Given the description of an element on the screen output the (x, y) to click on. 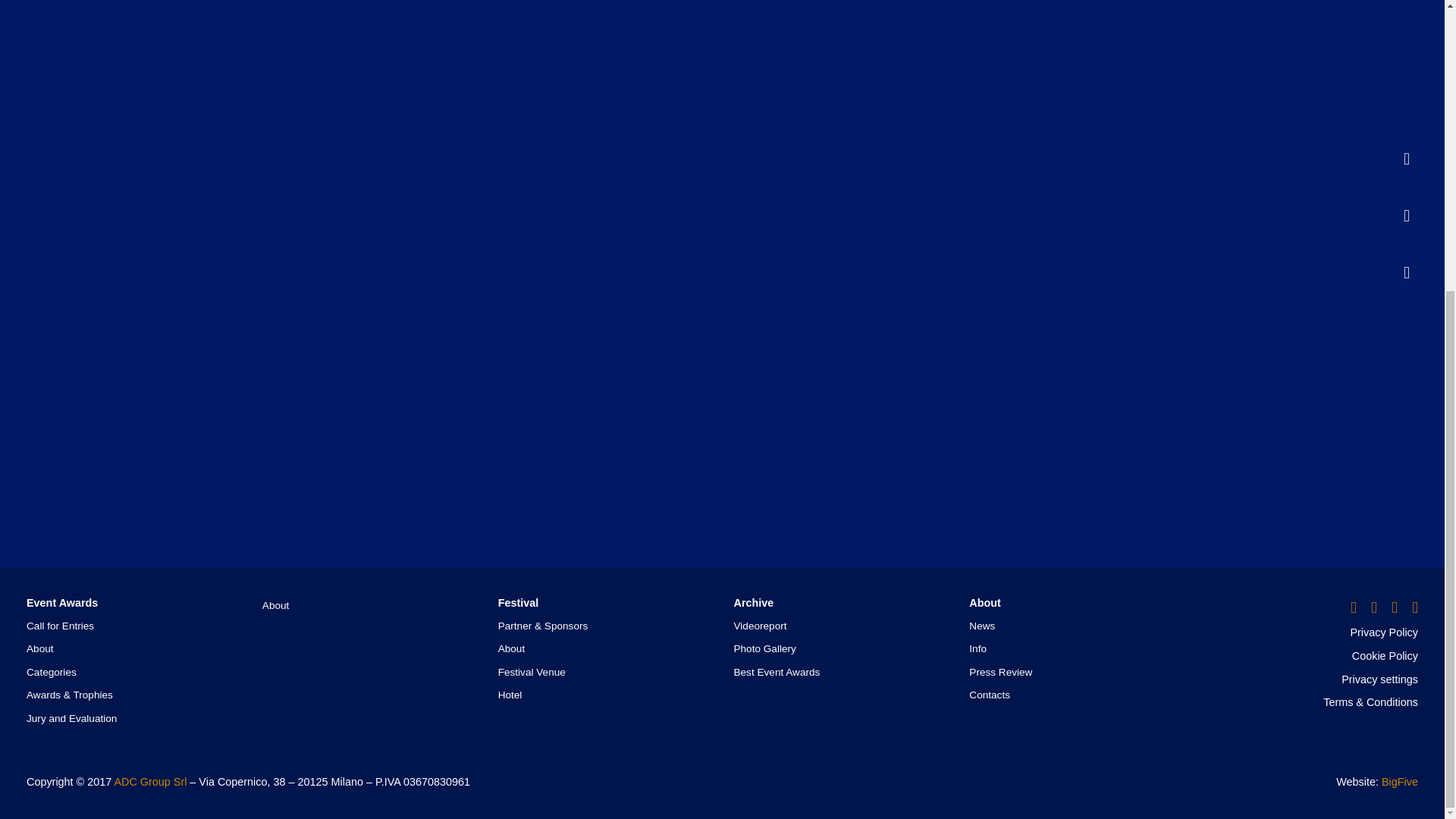
Categories (51, 672)
Call for Entries (60, 625)
About (39, 648)
Event Awards (61, 603)
